Given the description of an element on the screen output the (x, y) to click on. 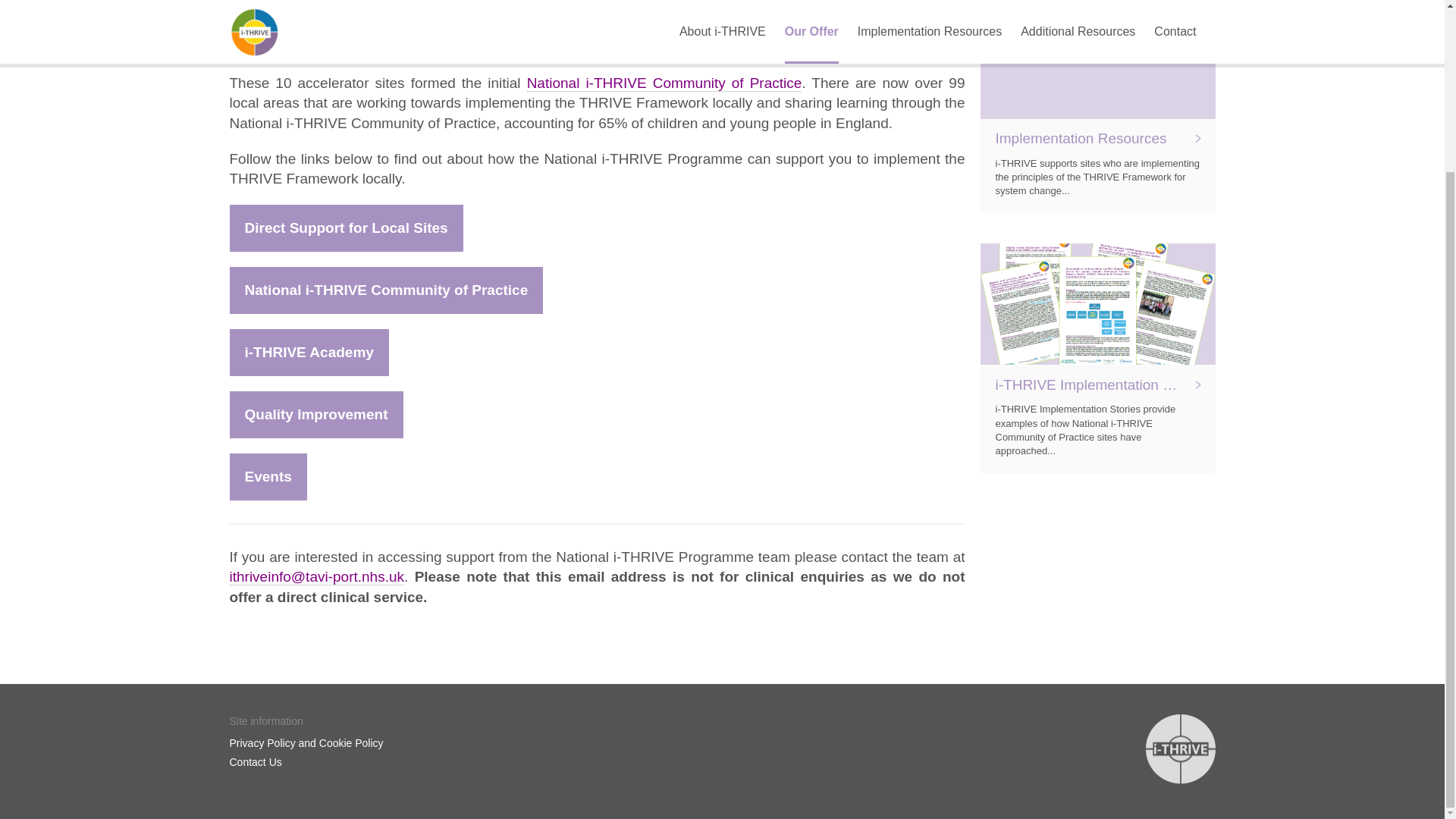
i-THRIVE Academy (308, 352)
NHS Innovation Accelerator programme (480, 47)
National i-THRIVE Programme (840, 7)
National i-THRIVE Community of Practice (664, 83)
View Implementation Resources (1096, 106)
View i-THRIVE Implementation Stories (1096, 358)
THRIVE Framework for system change (459, 27)
National i-THRIVE Community of Practice (385, 289)
Direct Support for Local Sites (345, 227)
Quality Improvement (315, 414)
